Given the description of an element on the screen output the (x, y) to click on. 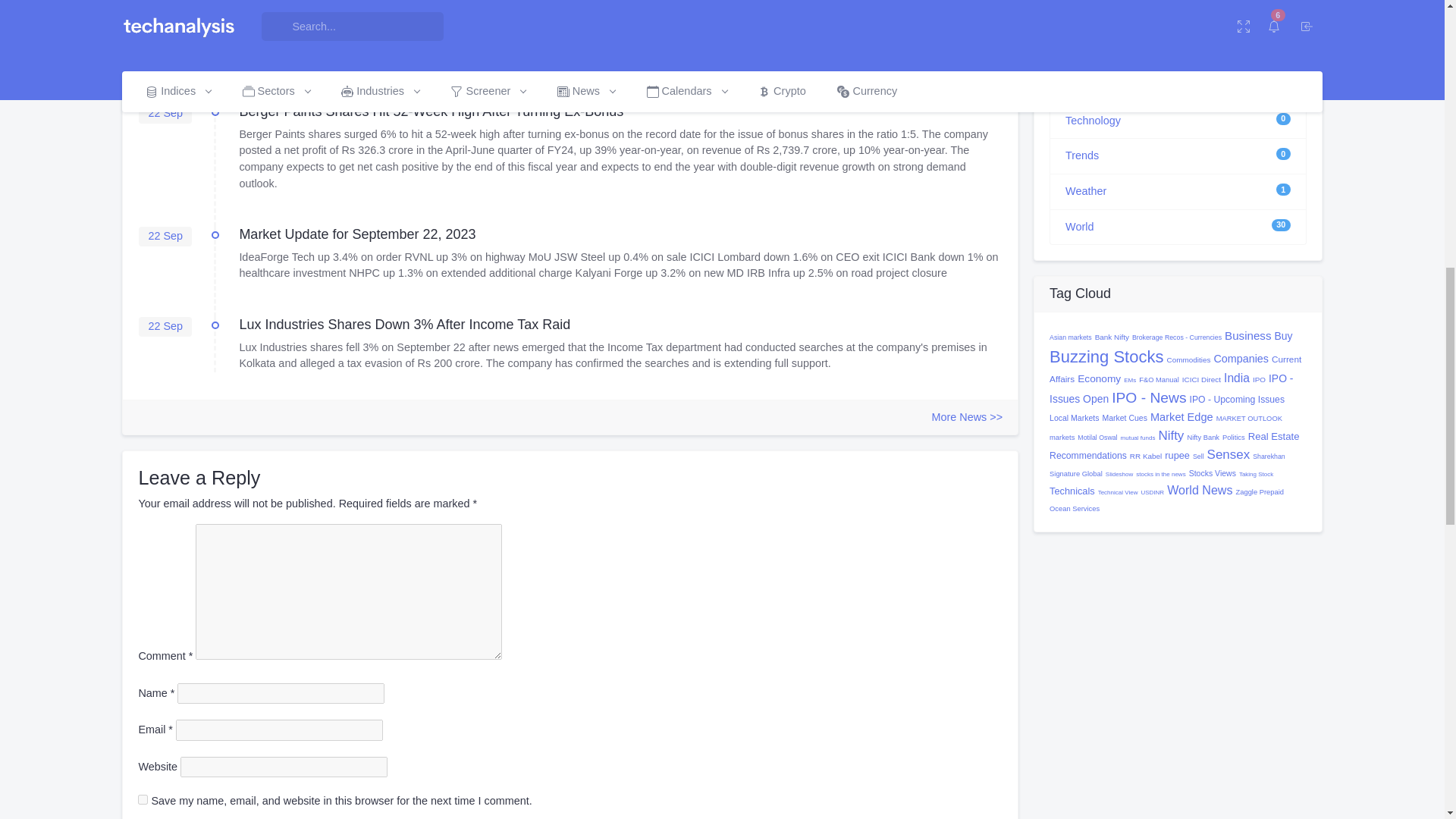
yes (143, 799)
